Given the description of an element on the screen output the (x, y) to click on. 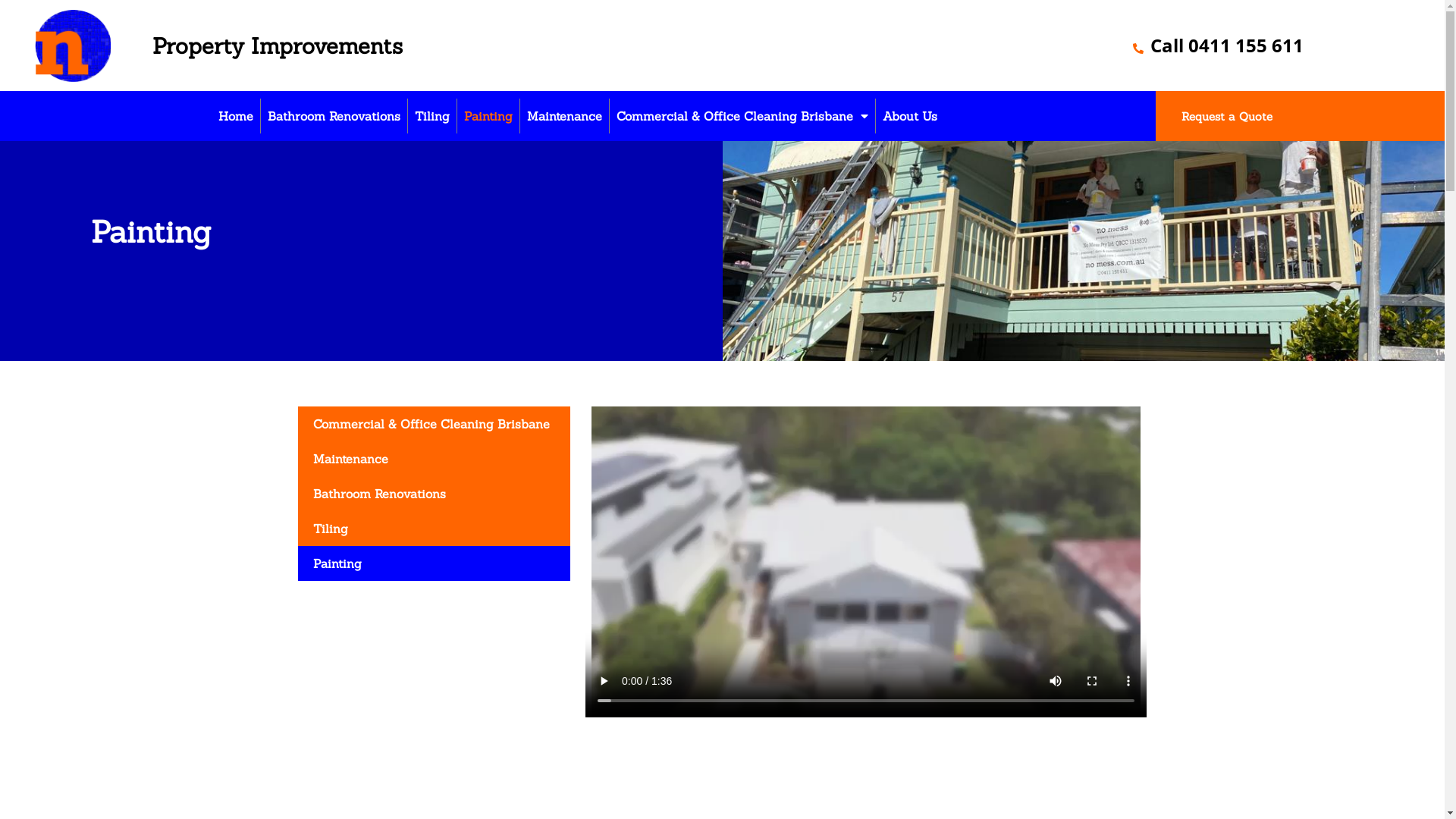
Bathroom Renovations Element type: text (333, 115)
Tiling Element type: text (433, 528)
Request a Quote Element type: text (1226, 116)
Painting Element type: text (433, 563)
Maintenance Element type: text (564, 115)
Painting Element type: text (488, 115)
Call 0411 155 611 Element type: text (1217, 45)
Commercial & Office Cleaning Brisbane Element type: text (433, 423)
Maintenance Element type: text (433, 458)
Home Element type: text (235, 115)
Commercial & Office Cleaning Brisbane Element type: text (742, 115)
Tiling Element type: text (431, 115)
About Us Element type: text (909, 115)
Bathroom Renovations Element type: text (433, 493)
